Given the description of an element on the screen output the (x, y) to click on. 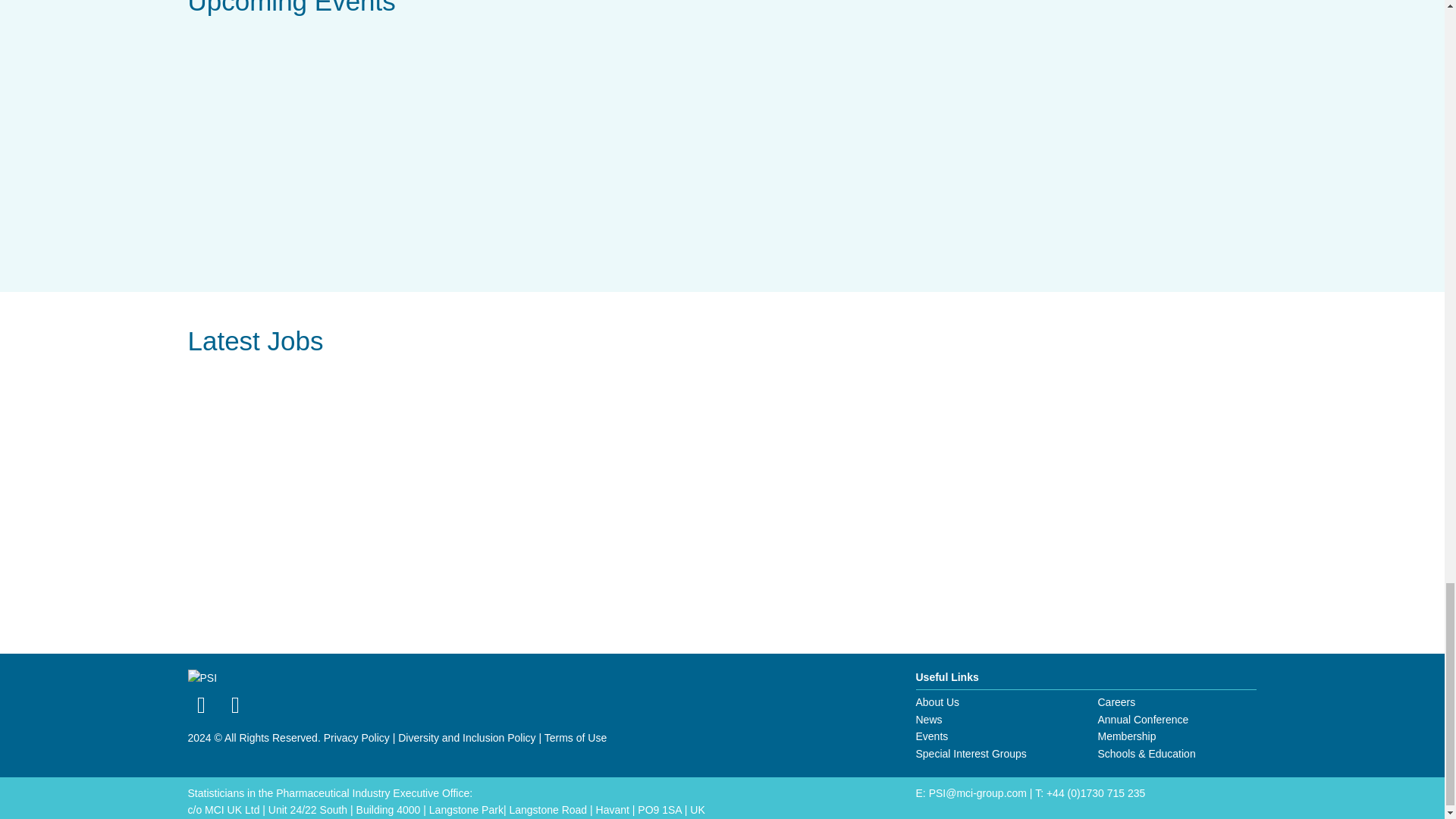
PSI (201, 677)
